Given the description of an element on the screen output the (x, y) to click on. 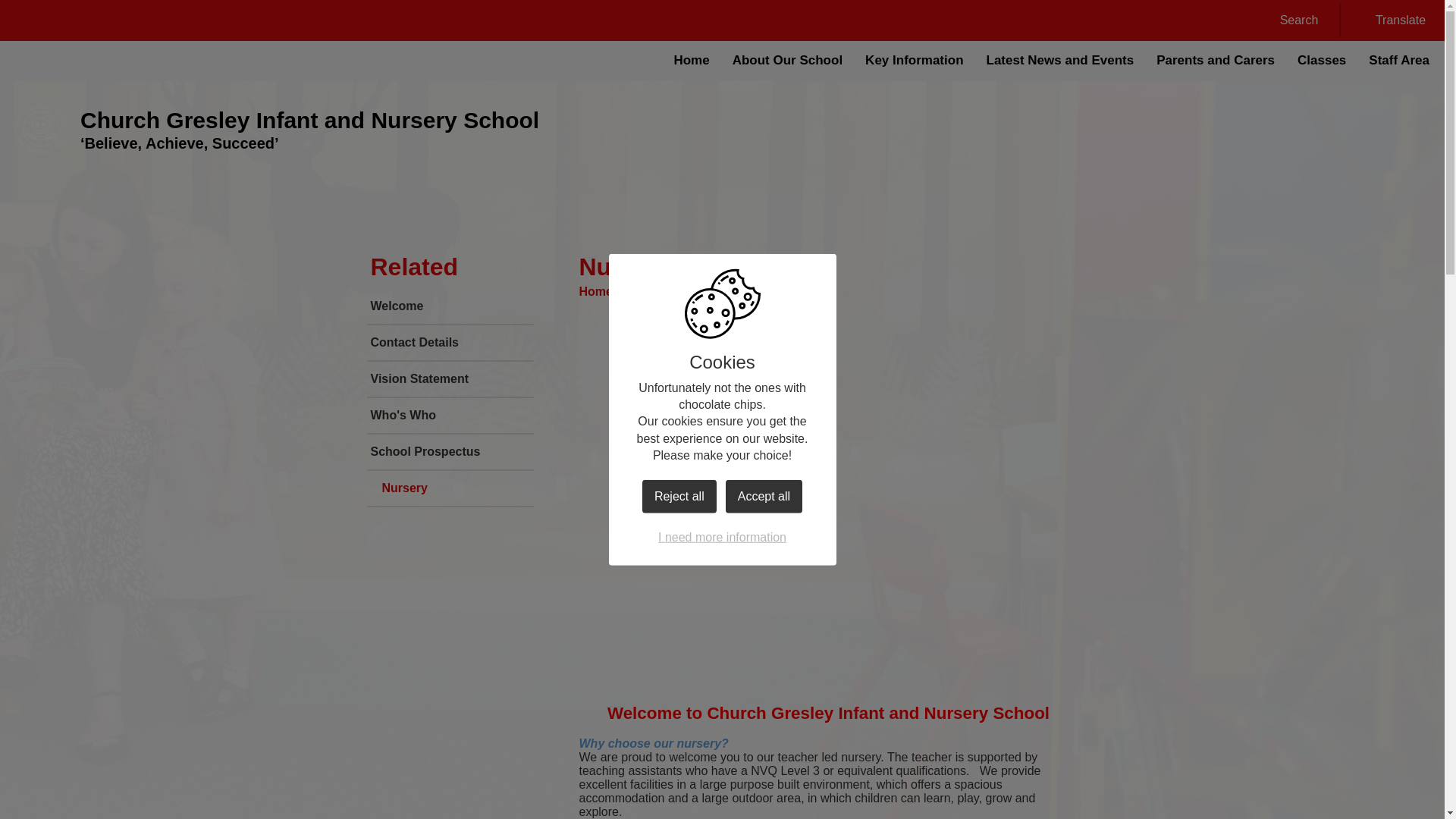
Key Information (913, 60)
About Our School (787, 60)
Translate (1390, 20)
Search (1289, 20)
Home Page (39, 129)
